Given the description of an element on the screen output the (x, y) to click on. 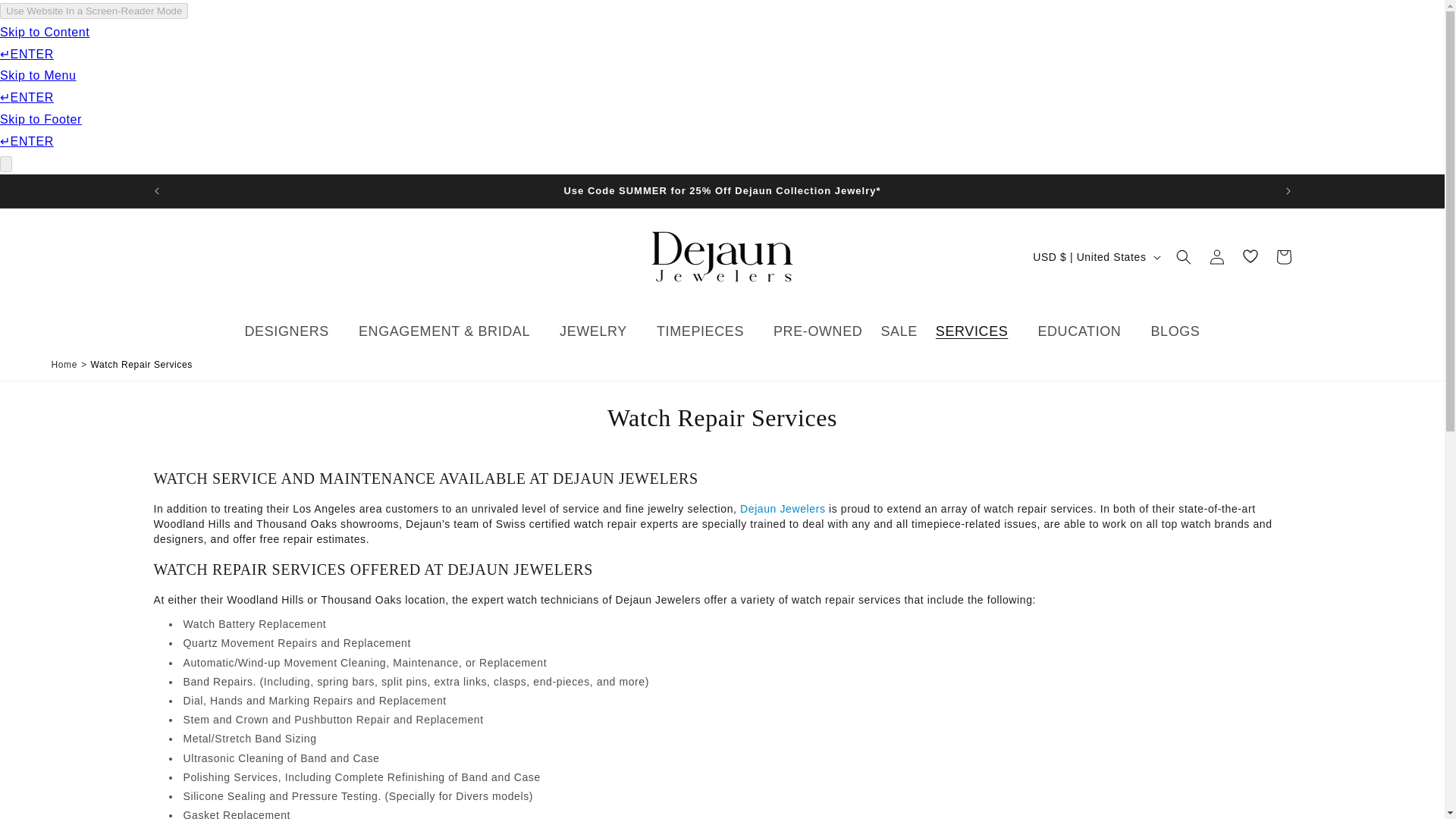
Skip to content (45, 17)
